Given the description of an element on the screen output the (x, y) to click on. 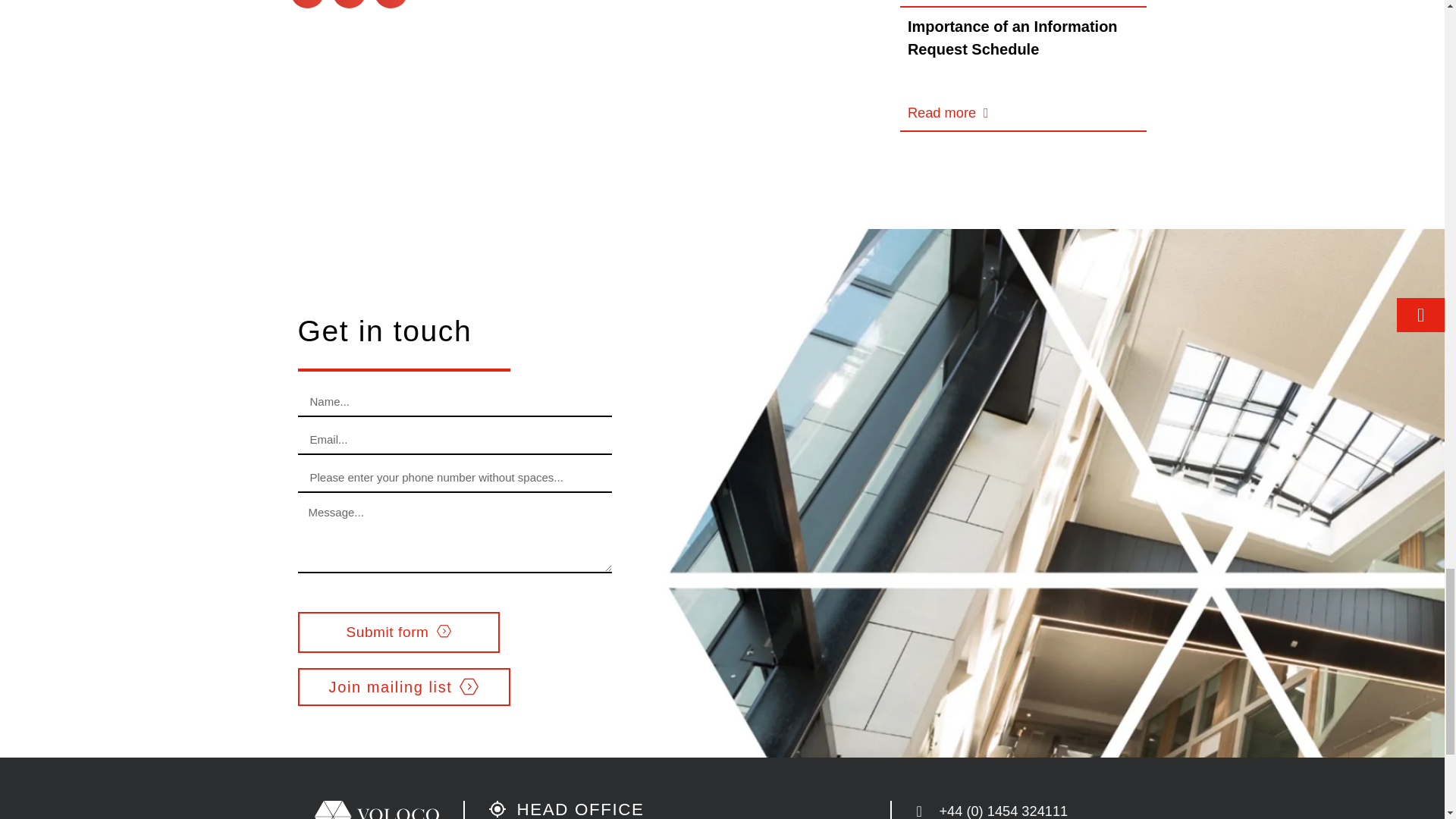
Join mailing list (403, 686)
Read more (947, 112)
Submit form (398, 631)
